Given the description of an element on the screen output the (x, y) to click on. 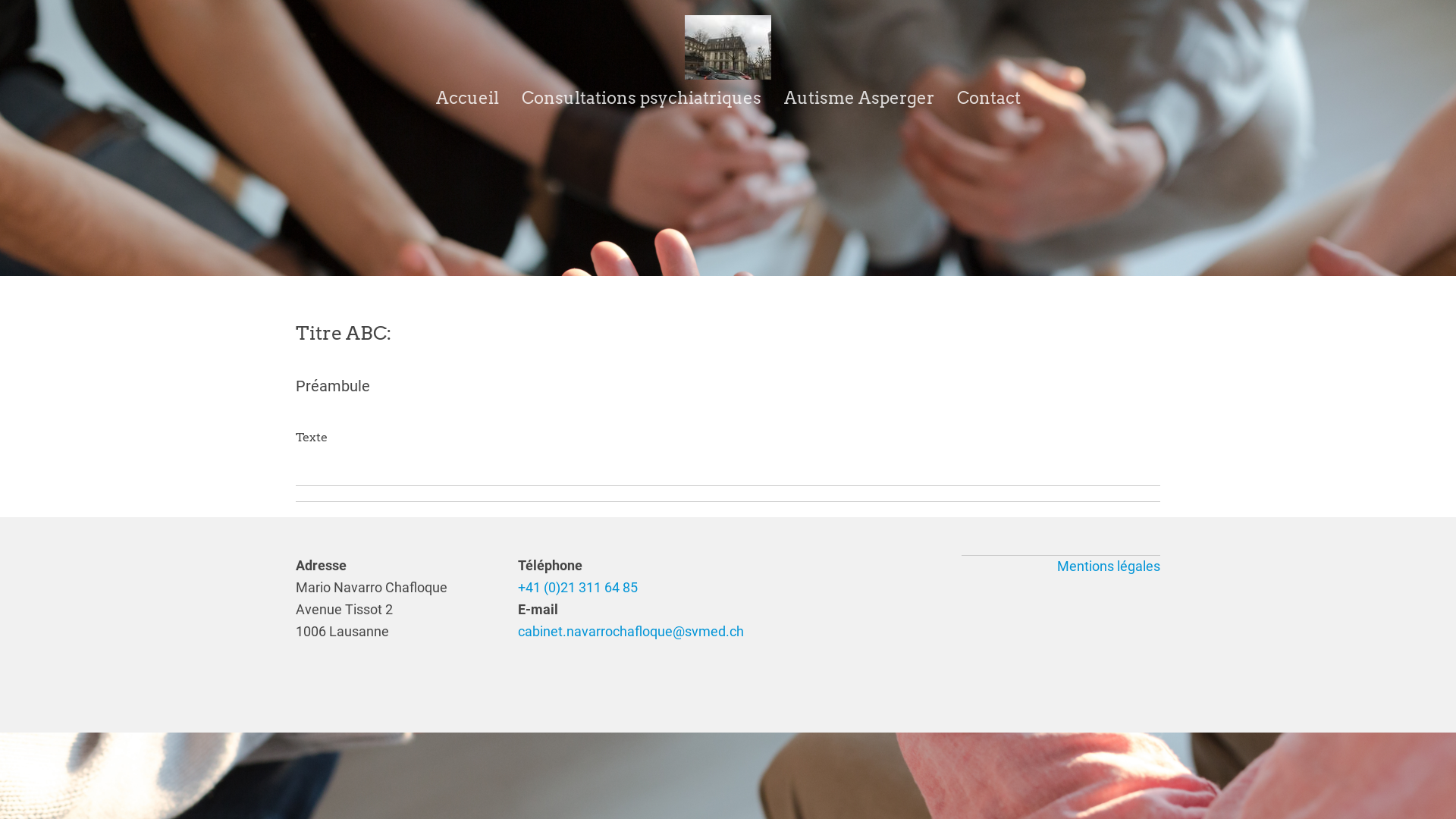
Accueil Element type: text (466, 98)
cabinet.navarrochafloque@svmed.ch Element type: text (630, 631)
Contact Element type: text (988, 98)
Consultations psychiatriques Element type: text (641, 98)
+41 (0)21 311 64 85 Element type: text (577, 587)
Autisme Asperger Element type: text (859, 98)
